Given the description of an element on the screen output the (x, y) to click on. 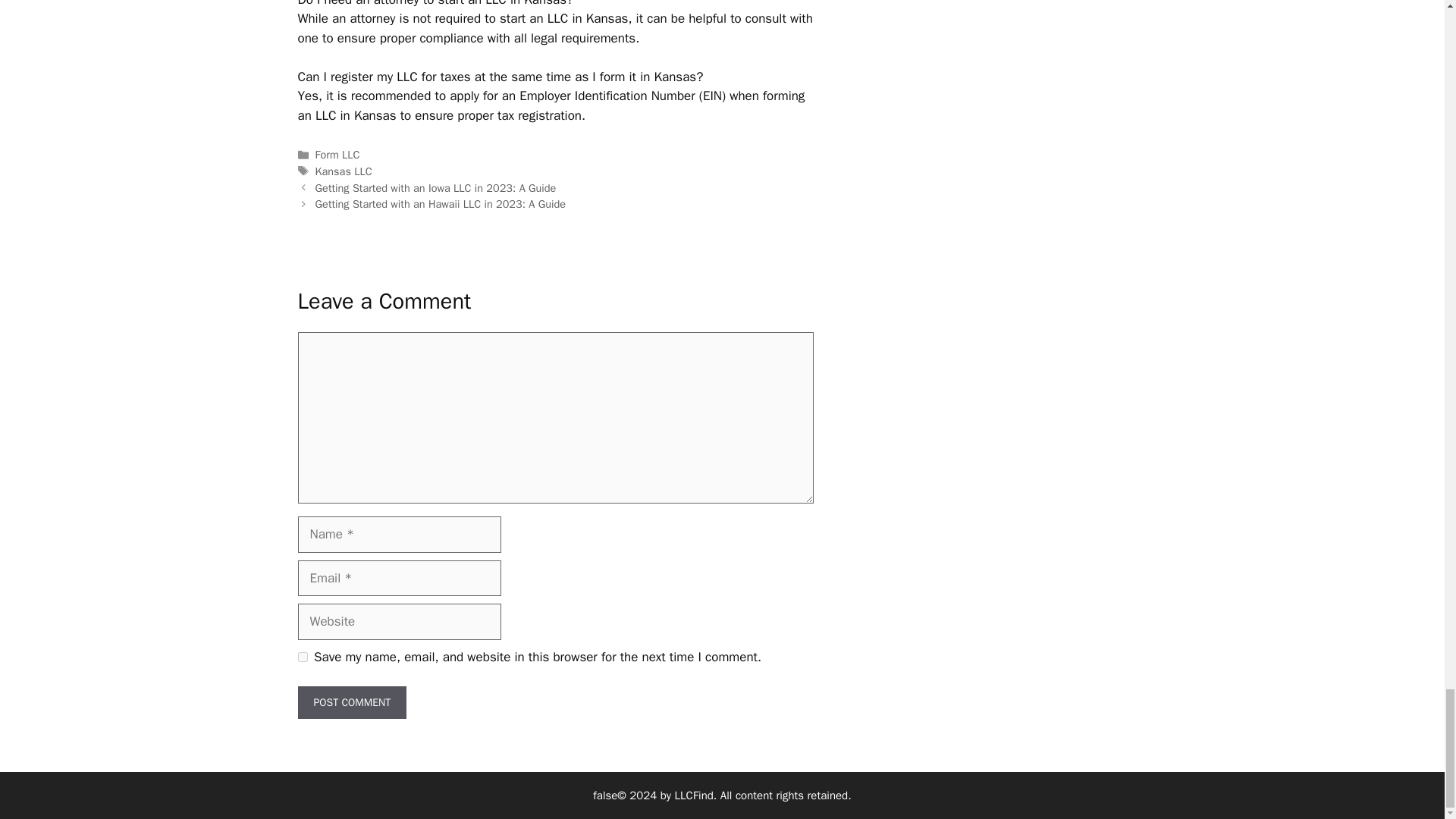
Kansas LLC (343, 171)
yes (302, 656)
Post Comment (351, 702)
Form LLC (337, 154)
